Given the description of an element on the screen output the (x, y) to click on. 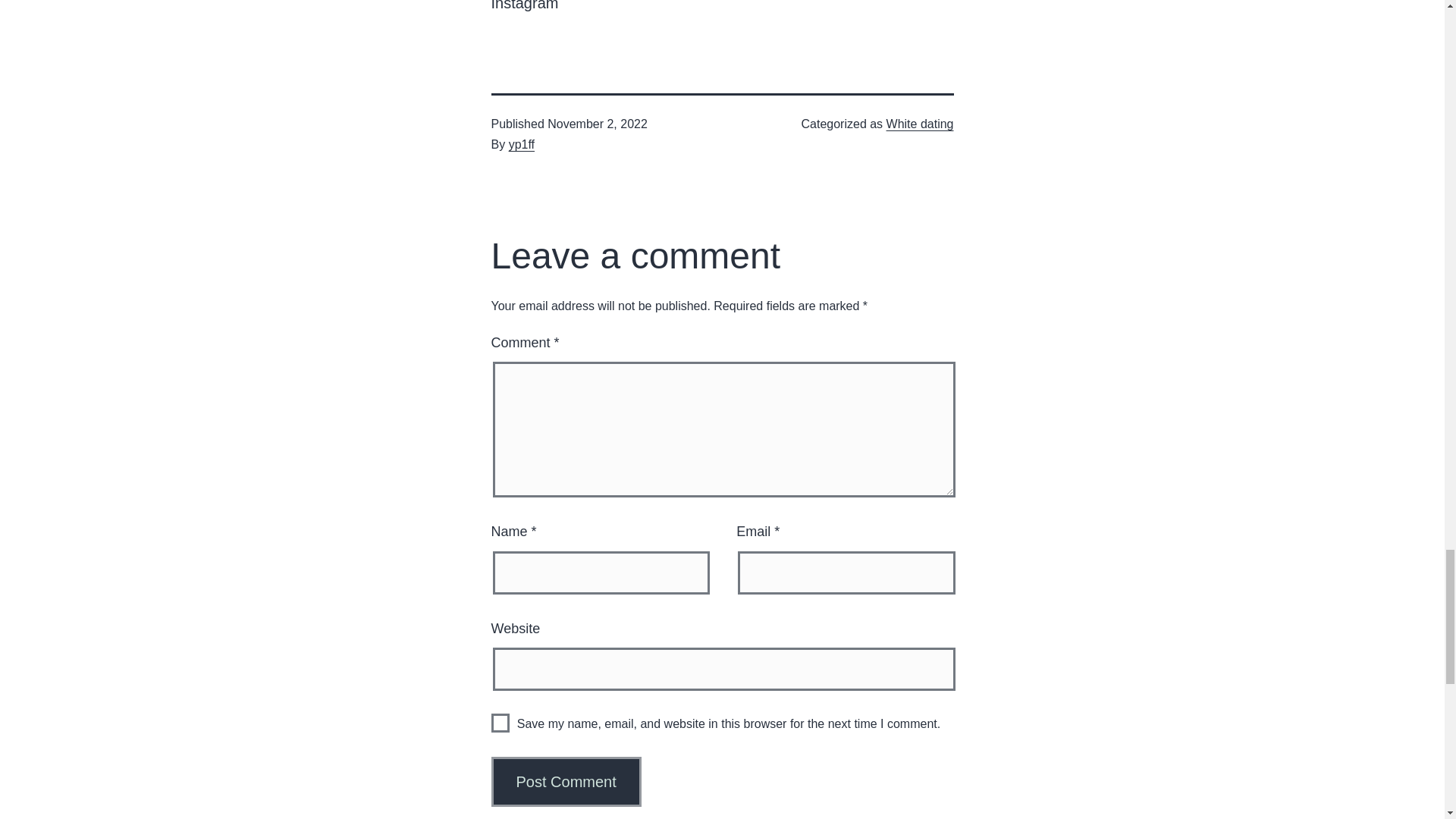
Post Comment (567, 781)
Post Comment (567, 781)
yp1ff (521, 144)
yes (500, 722)
White dating (919, 123)
